Given the description of an element on the screen output the (x, y) to click on. 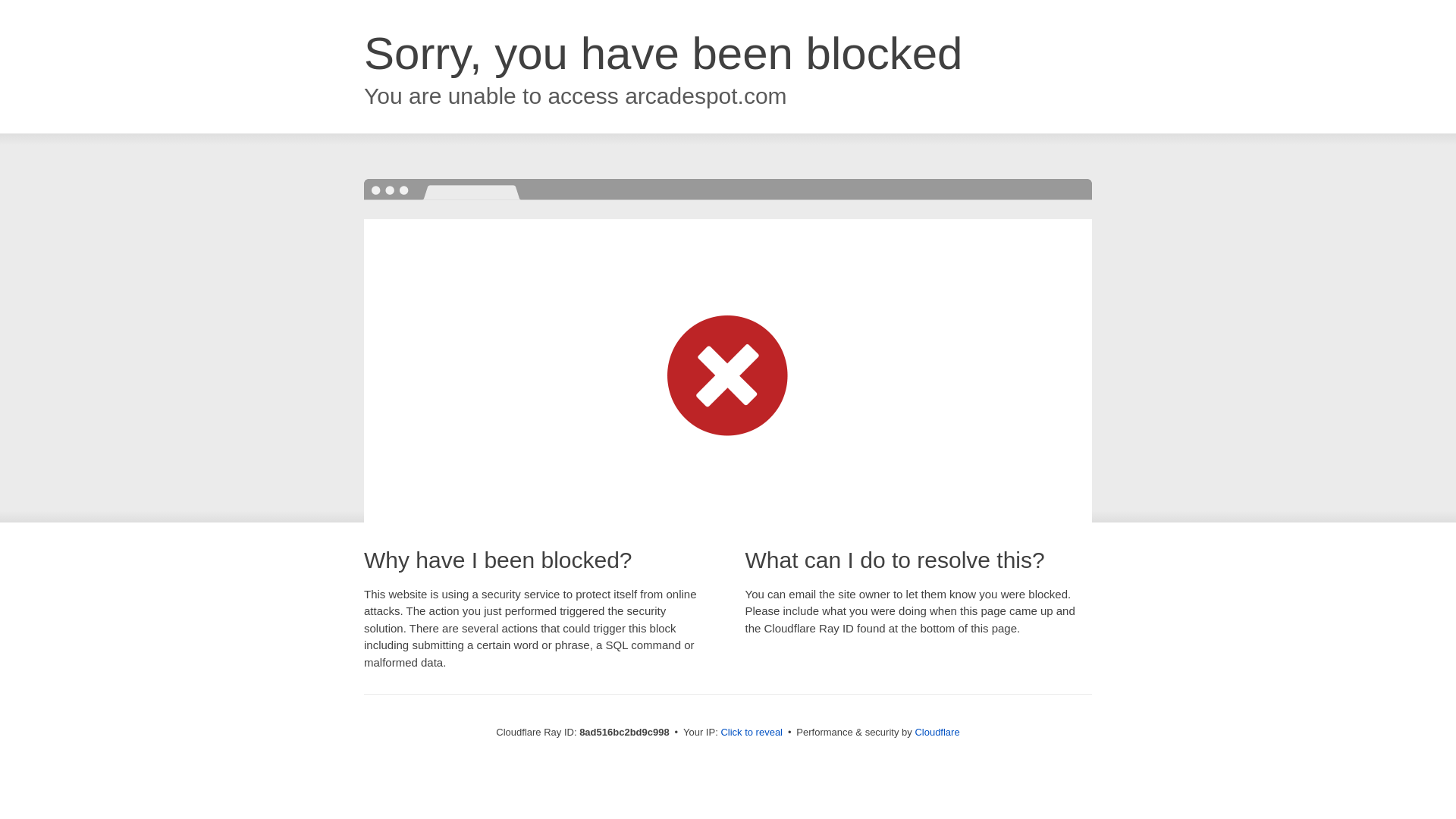
Cloudflare (936, 731)
Click to reveal (751, 732)
